Given the description of an element on the screen output the (x, y) to click on. 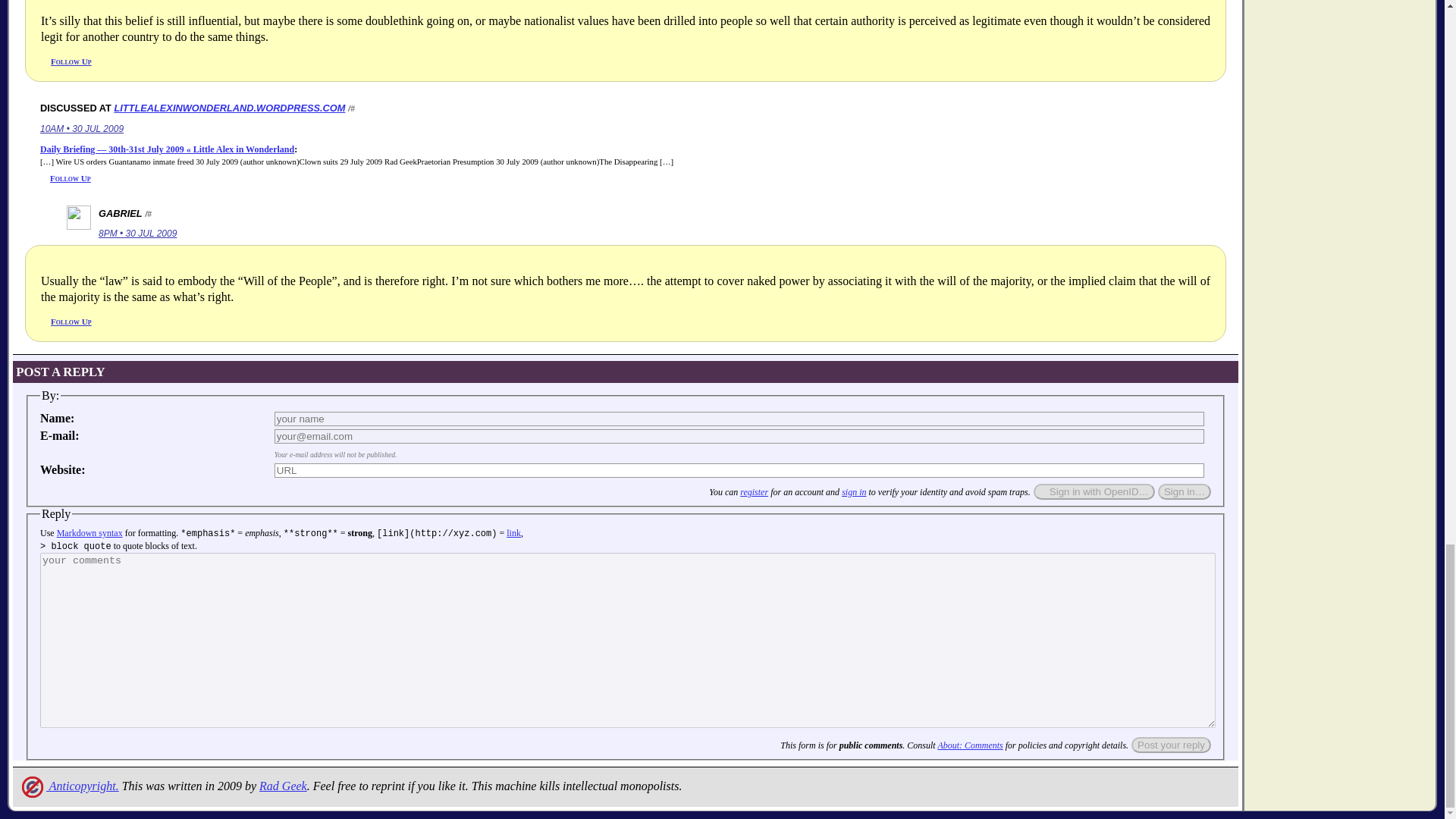
Follow Up (69, 177)
LITTLEALEXINWONDERLAND.WORDPRESS.COM (229, 107)
Post your reply (1171, 744)
Follow Up (70, 320)
Follow Up (70, 61)
Rad Geek People's Daily: Contact Me (283, 785)
sign in (853, 491)
register (753, 491)
